Given the description of an element on the screen output the (x, y) to click on. 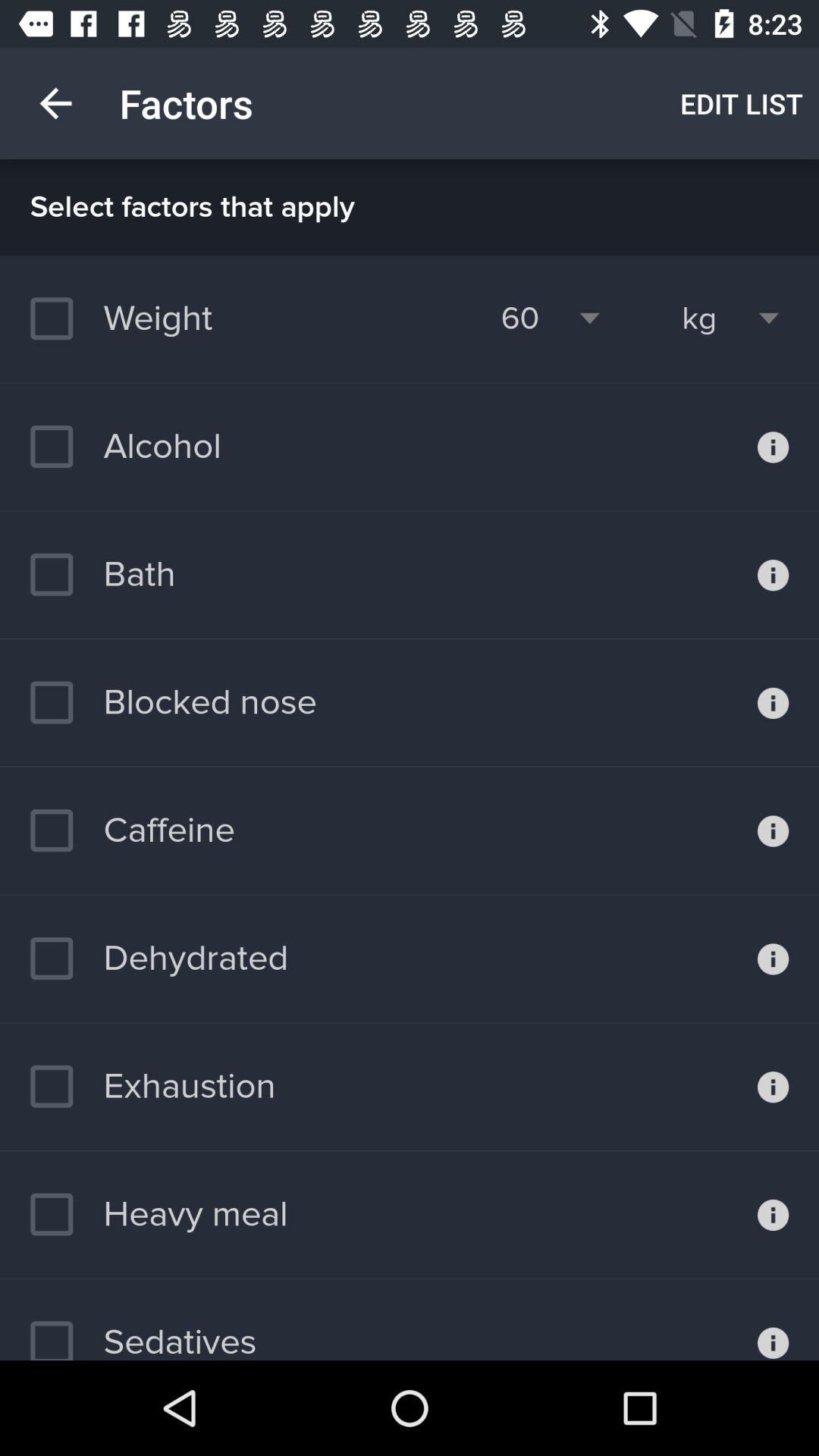
turn on the item above select factors that icon (55, 103)
